Given the description of an element on the screen output the (x, y) to click on. 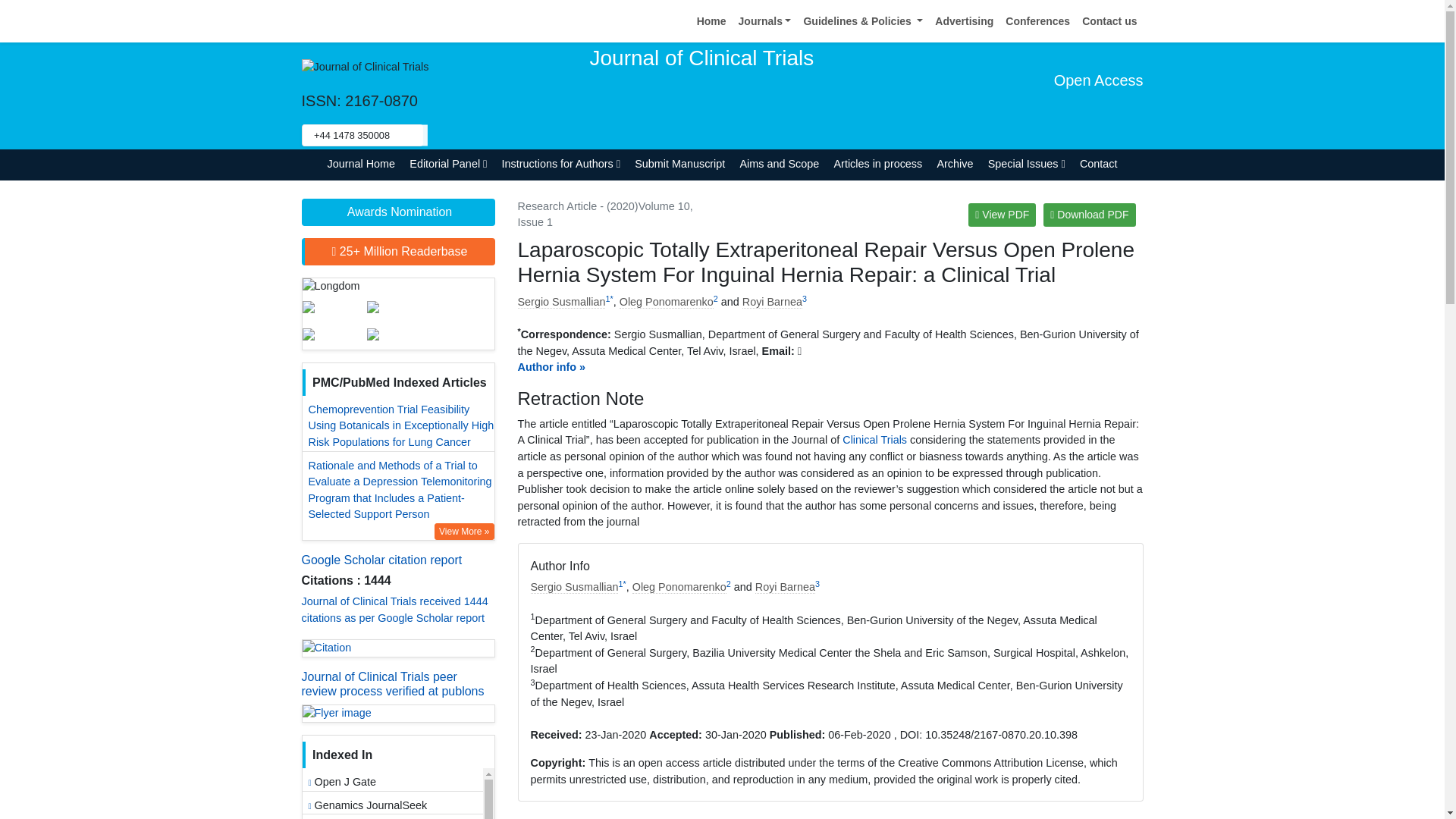
Special Issues (1025, 164)
Articles in process (878, 164)
Advertising (963, 21)
Aims and Scope (779, 164)
Contact us (1108, 21)
Awards Nomination (398, 212)
Instructions for Authors (561, 164)
Contact us (1108, 21)
Conferences (1036, 21)
Home (711, 21)
Advertising (963, 21)
Submit Manuscript (679, 164)
Conferences (1036, 21)
Journal Home (361, 164)
